Given the description of an element on the screen output the (x, y) to click on. 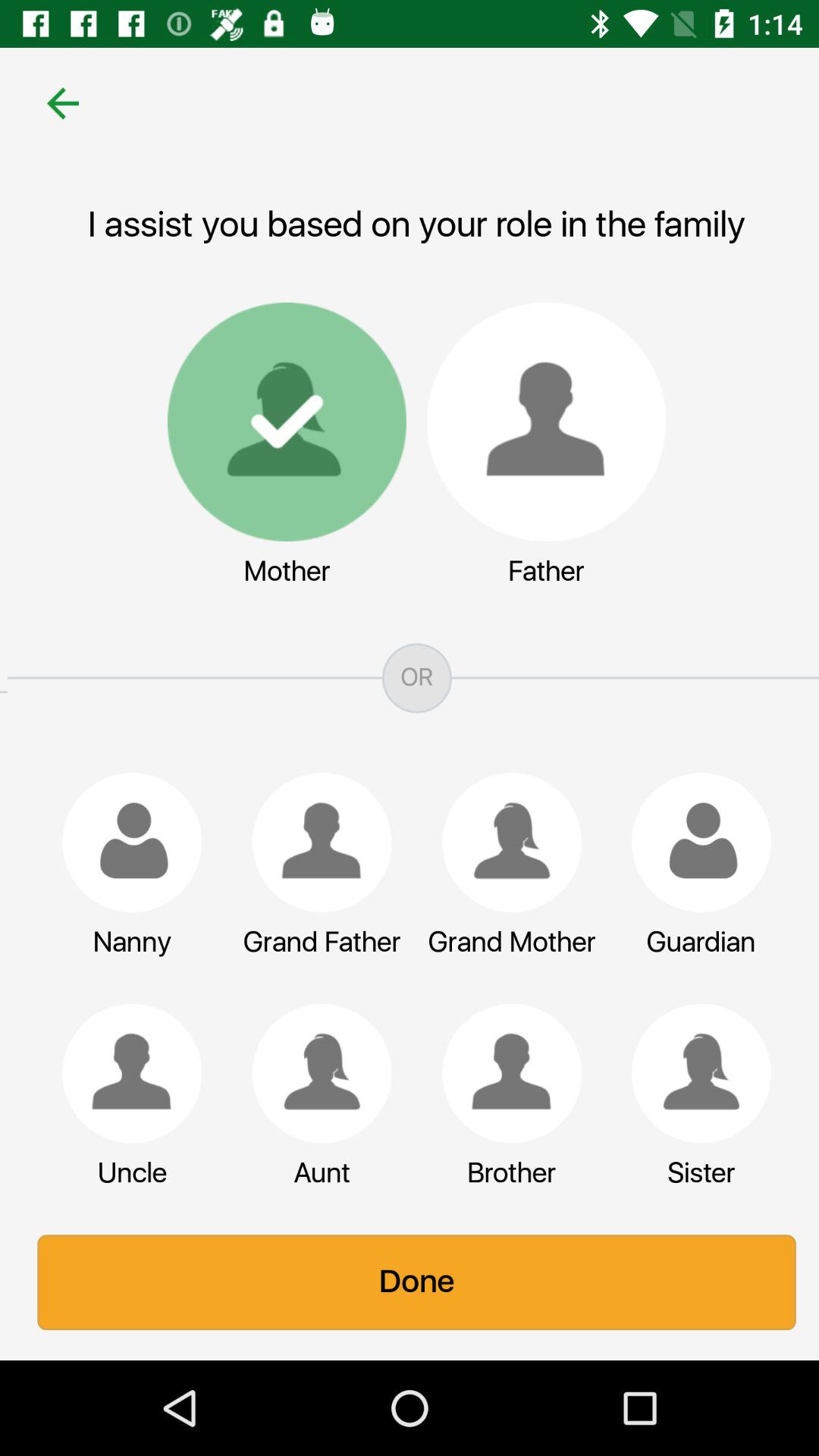
press icon above the aunt (314, 1073)
